Given the description of an element on the screen output the (x, y) to click on. 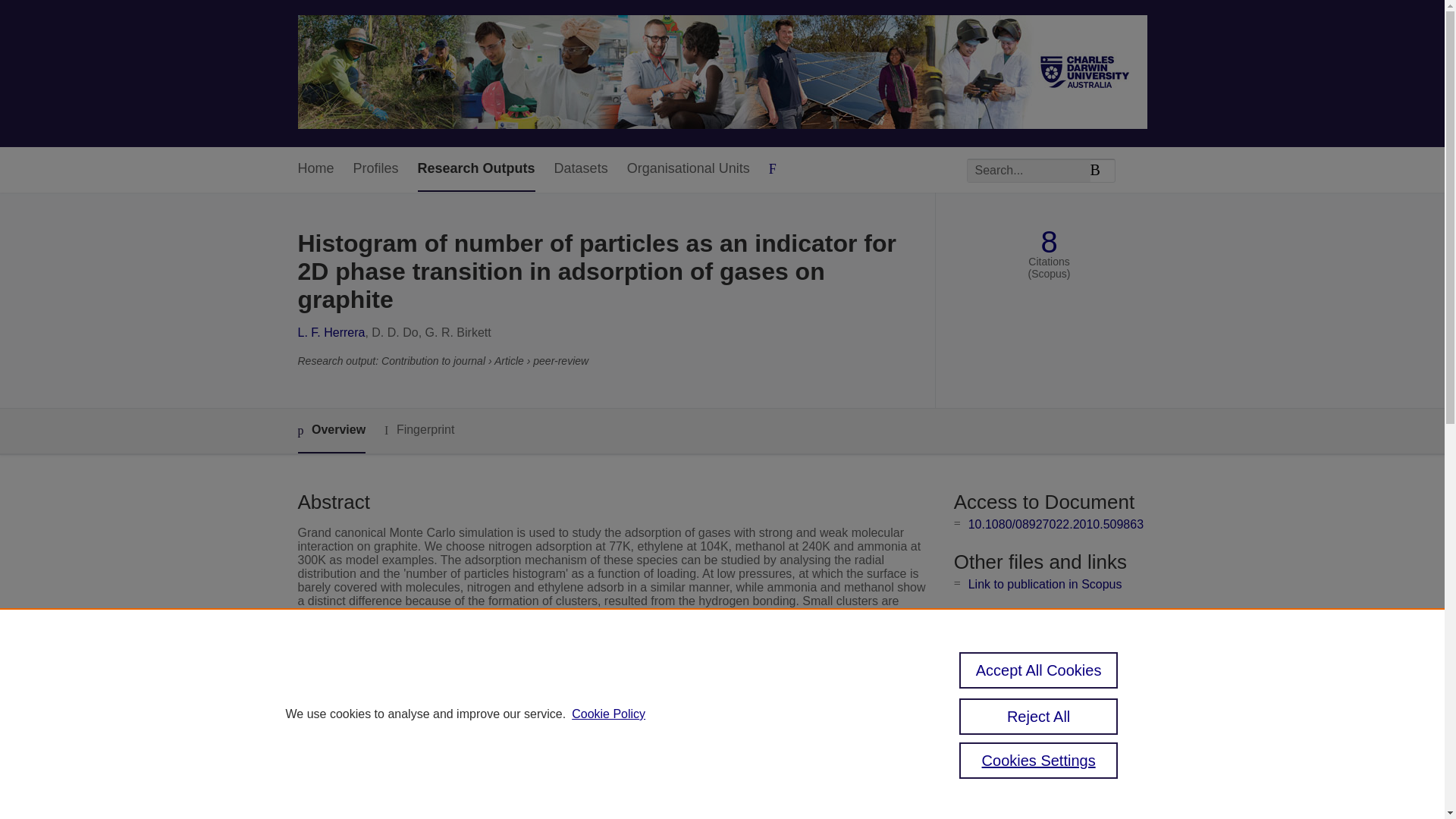
Link to publication in Scopus (1045, 584)
Datasets (581, 169)
Charles Darwin University Home (722, 73)
Fingerprint (419, 430)
Research Outputs (476, 169)
Molecular Simulation (566, 746)
L. F. Herrera (331, 332)
Overview (331, 430)
Organisational Units (688, 169)
